Given the description of an element on the screen output the (x, y) to click on. 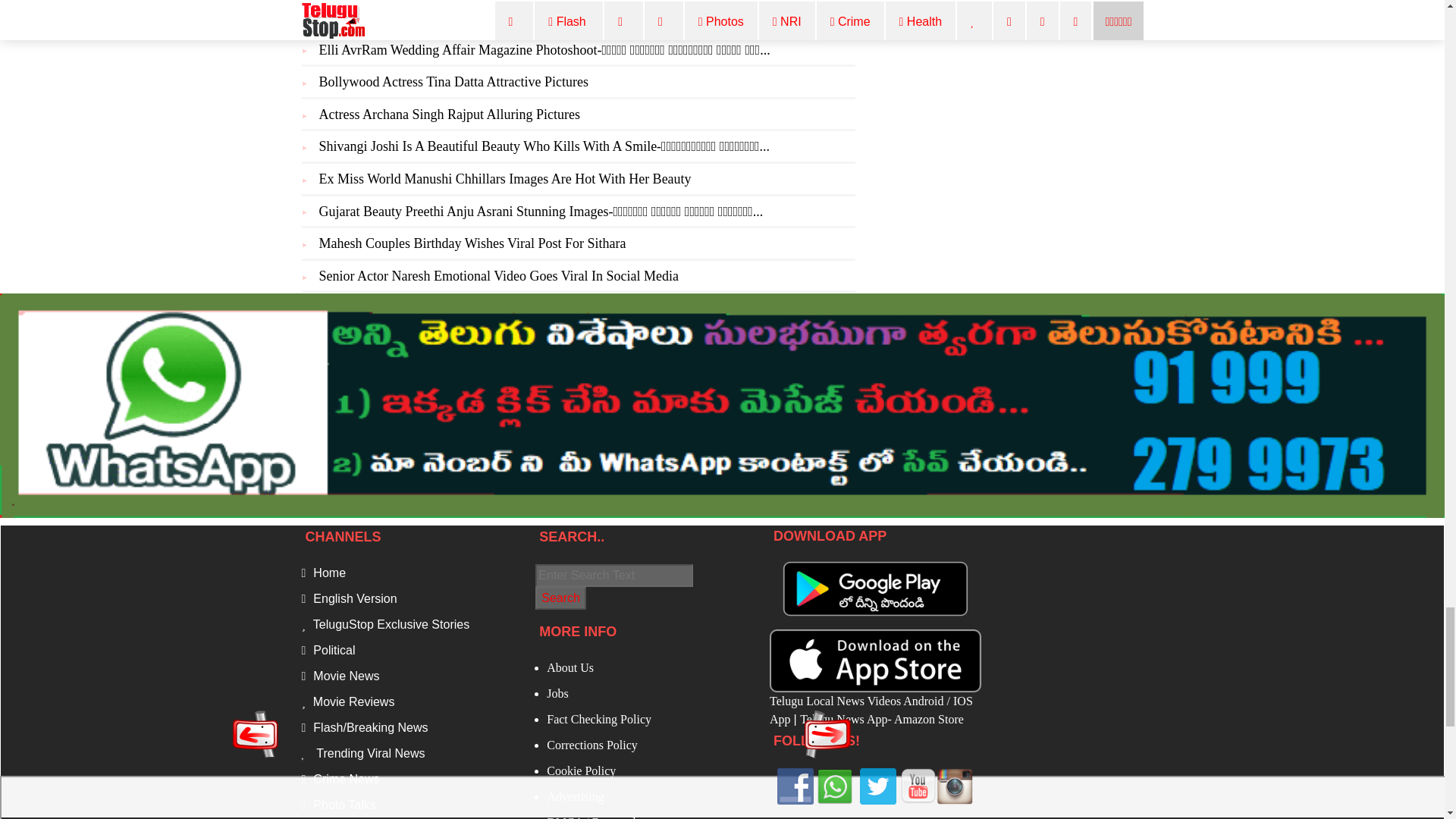
Search (560, 598)
